Given the description of an element on the screen output the (x, y) to click on. 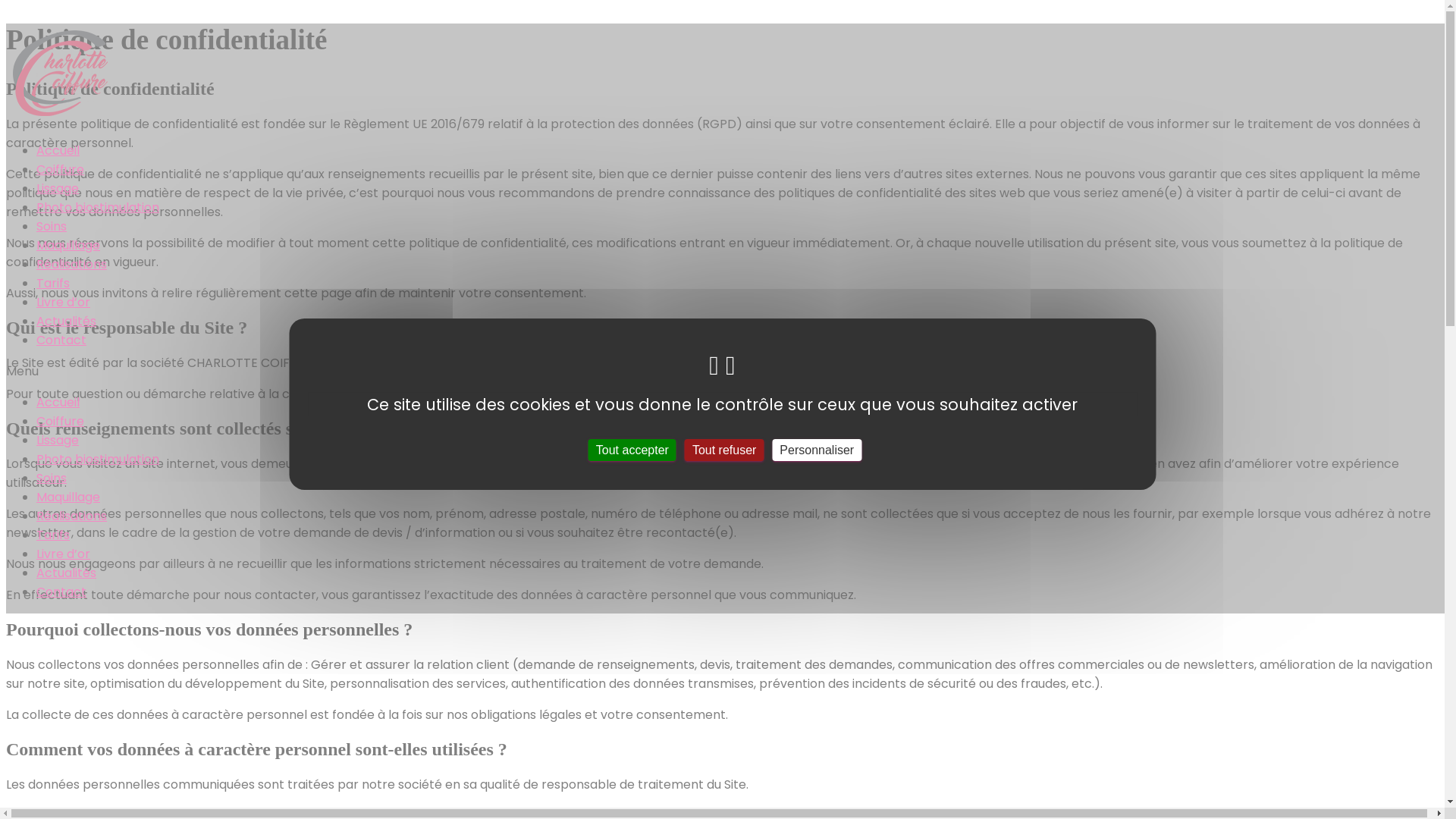
Coiffure Element type: text (60, 420)
Soins Element type: text (51, 477)
Contact Element type: text (61, 339)
Lissage Element type: text (57, 188)
Accueil Element type: text (57, 150)
Contact Element type: text (61, 591)
Lissage Element type: text (57, 439)
Personnaliser Element type: text (816, 449)
Maquillage Element type: text (68, 245)
Accueil Element type: text (57, 402)
Soins Element type: text (51, 226)
Photo biostimulation Element type: text (97, 207)
Tout accepter Element type: text (632, 449)
Coiffure Element type: text (60, 169)
Tarifs Element type: text (52, 282)
Tout refuser Element type: text (723, 449)
Tarifs Element type: text (52, 534)
Maquillage Element type: text (68, 496)
Photo biostimulation Element type: text (97, 458)
